Given the description of an element on the screen output the (x, y) to click on. 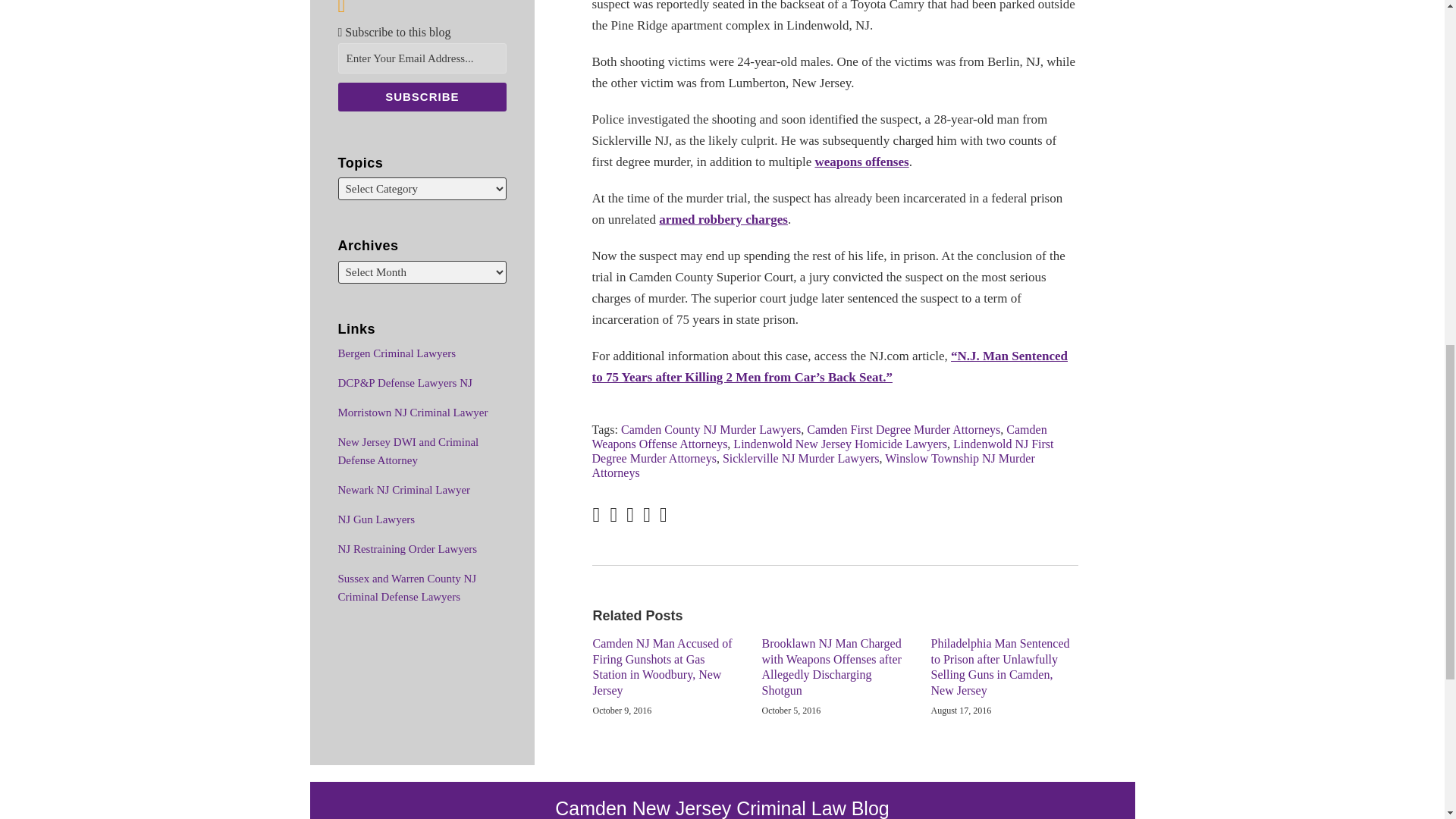
Camden First Degree Murder Attorneys (903, 429)
Sussex and Warren County Criminal Defense Attorneys (407, 587)
Lindenwold New Jersey Homicide Lawyers (840, 443)
Camden Weapons Offense Attorneys (819, 436)
weapons offenses (860, 161)
Morristown NJ Criminal Lawyer (412, 412)
Subscribe (421, 96)
Camden County NJ Murder Lawyers (710, 429)
armed robbery charges (723, 219)
Winslow Township NJ Murder Attorneys (813, 465)
Subscribe (421, 96)
Sicklerville NJ Murder Lawyers (800, 458)
